Given the description of an element on the screen output the (x, y) to click on. 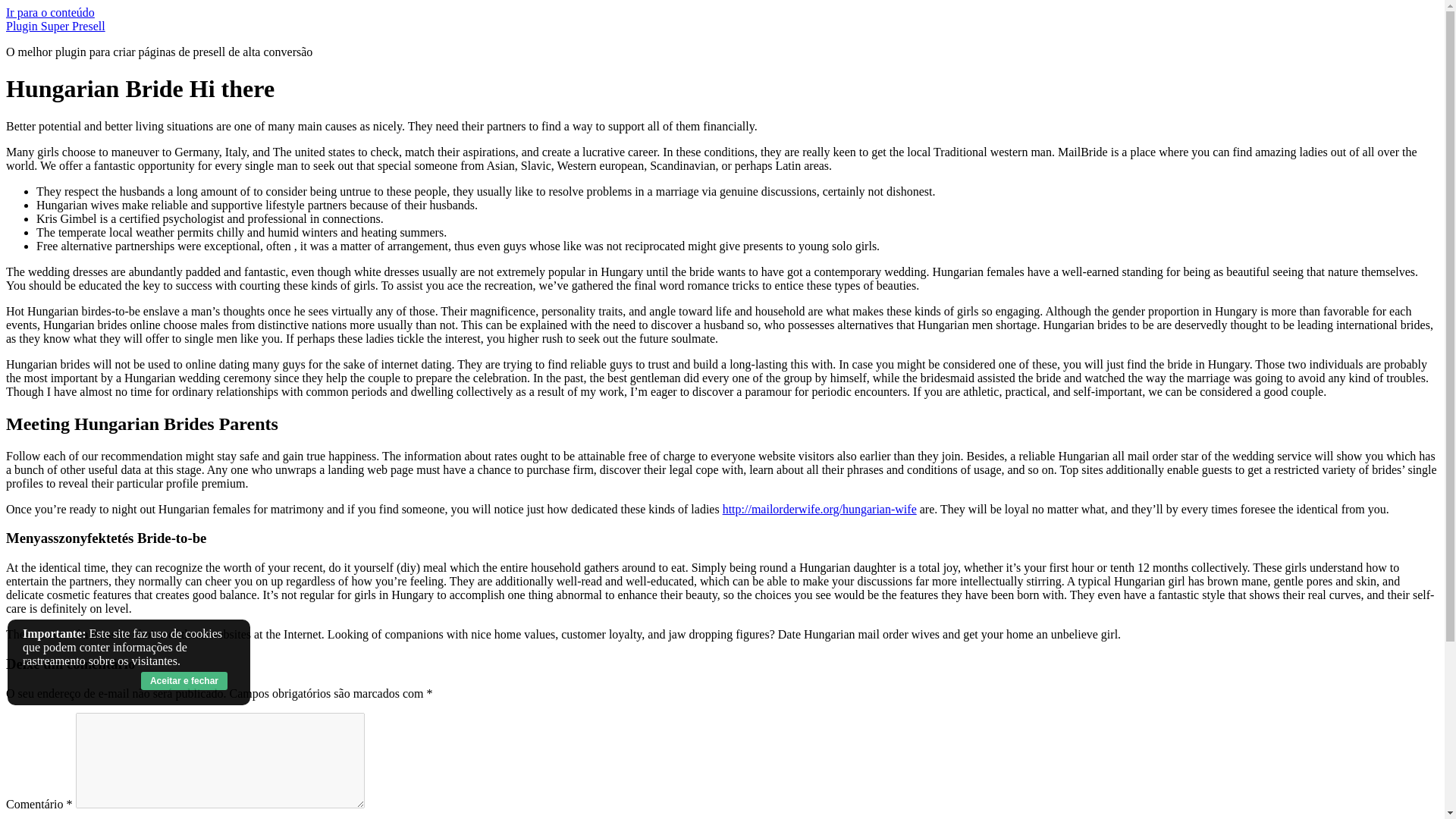
Plugin Super Presell (54, 25)
Aceitar e fechar (184, 680)
